Given the description of an element on the screen output the (x, y) to click on. 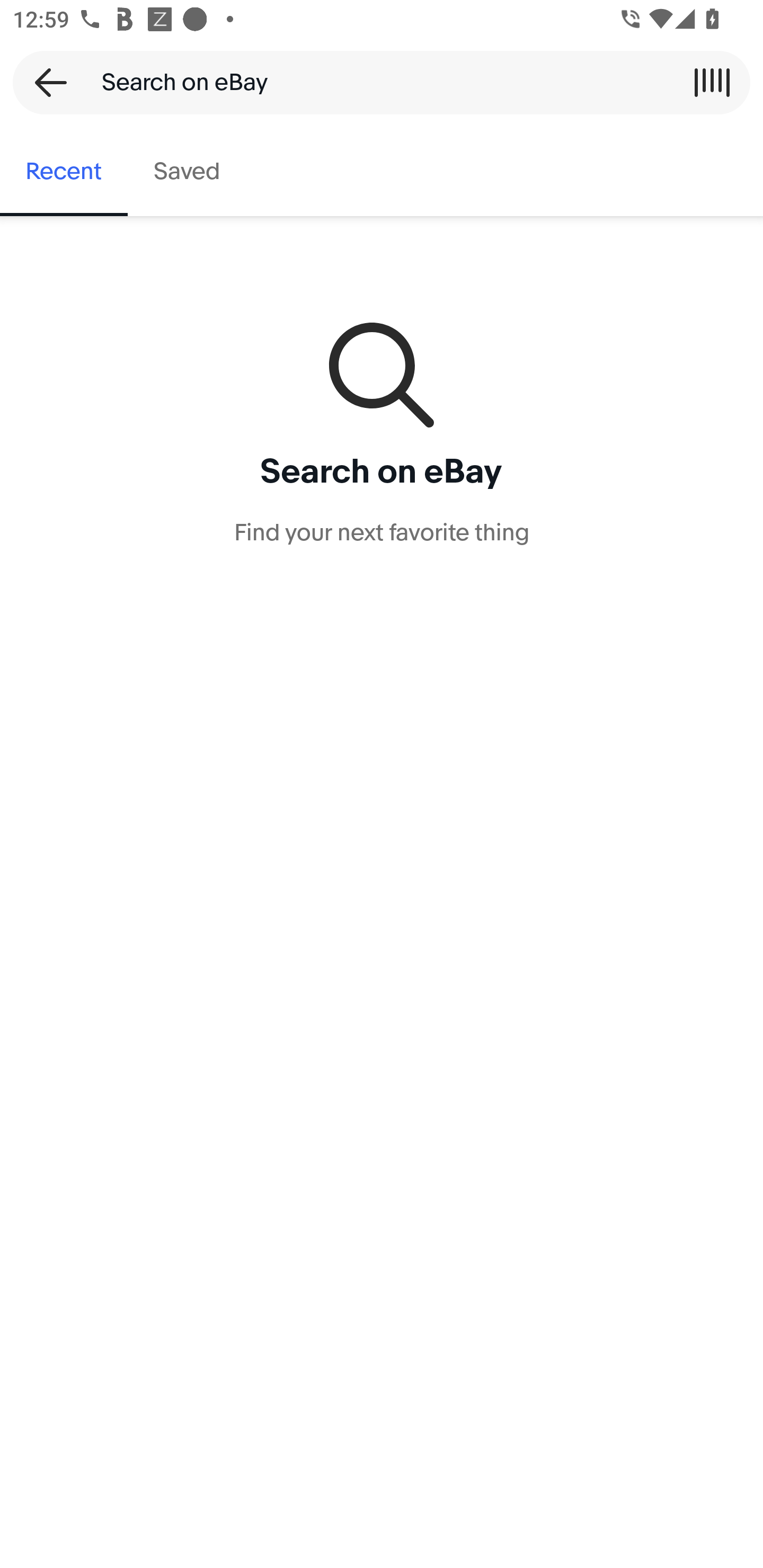
Back (44, 82)
Scan a barcode (711, 82)
Search on eBay (375, 82)
Saved, tab 2 of 2 Saved (186, 171)
